Given the description of an element on the screen output the (x, y) to click on. 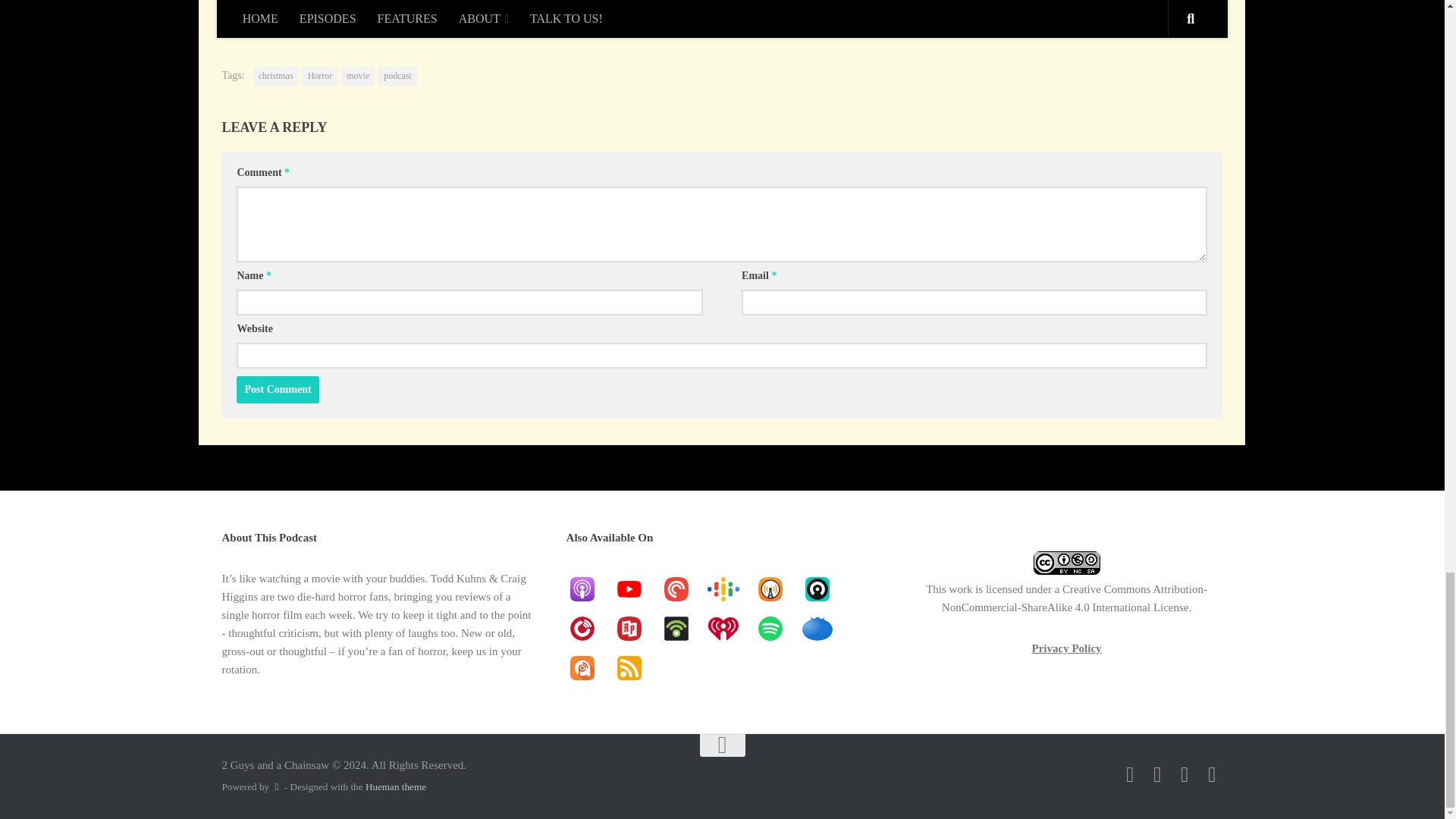
podcast (397, 76)
Post Comment (276, 389)
Horror (319, 76)
Post Comment (276, 389)
movie (357, 76)
christmas (275, 76)
